Given the description of an element on the screen output the (x, y) to click on. 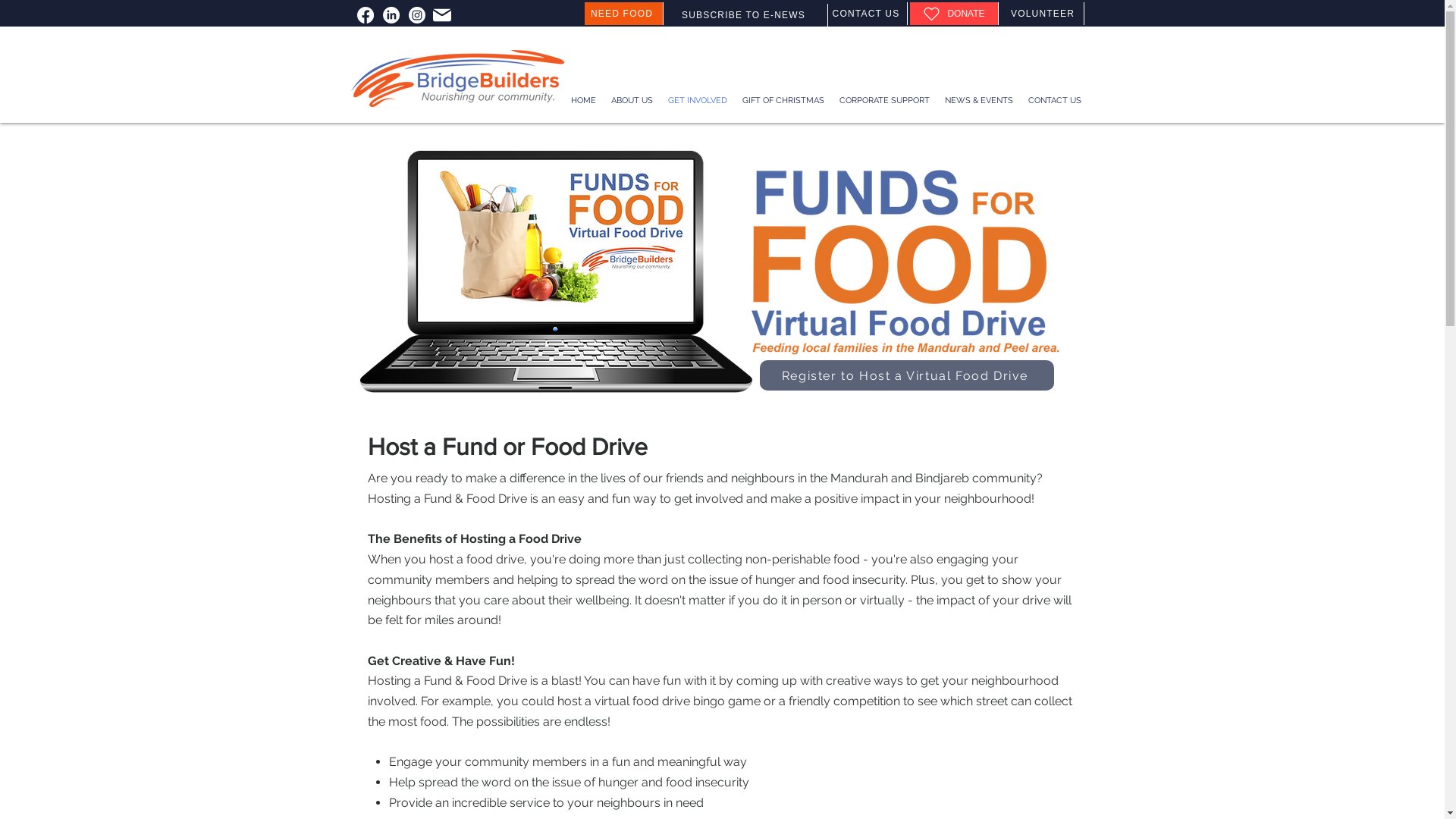
Register to Host a Virtual Food Drive Element type: text (906, 375)
CONTACT US Element type: text (867, 13)
HOME Element type: text (582, 100)
GIFT OF CHRISTMAS Element type: text (782, 100)
DONATE Element type: text (954, 13)
ABOUT US Element type: text (631, 100)
SUBSCRIBE TO E-NEWS Element type: text (744, 14)
CORPORATE SUPPORT Element type: text (883, 100)
GET INVOLVED Element type: text (696, 100)
NEED FOOD Element type: text (622, 13)
VOLUNTEER Element type: text (1044, 13)
CONTACT US Element type: text (1054, 100)
